Given the description of an element on the screen output the (x, y) to click on. 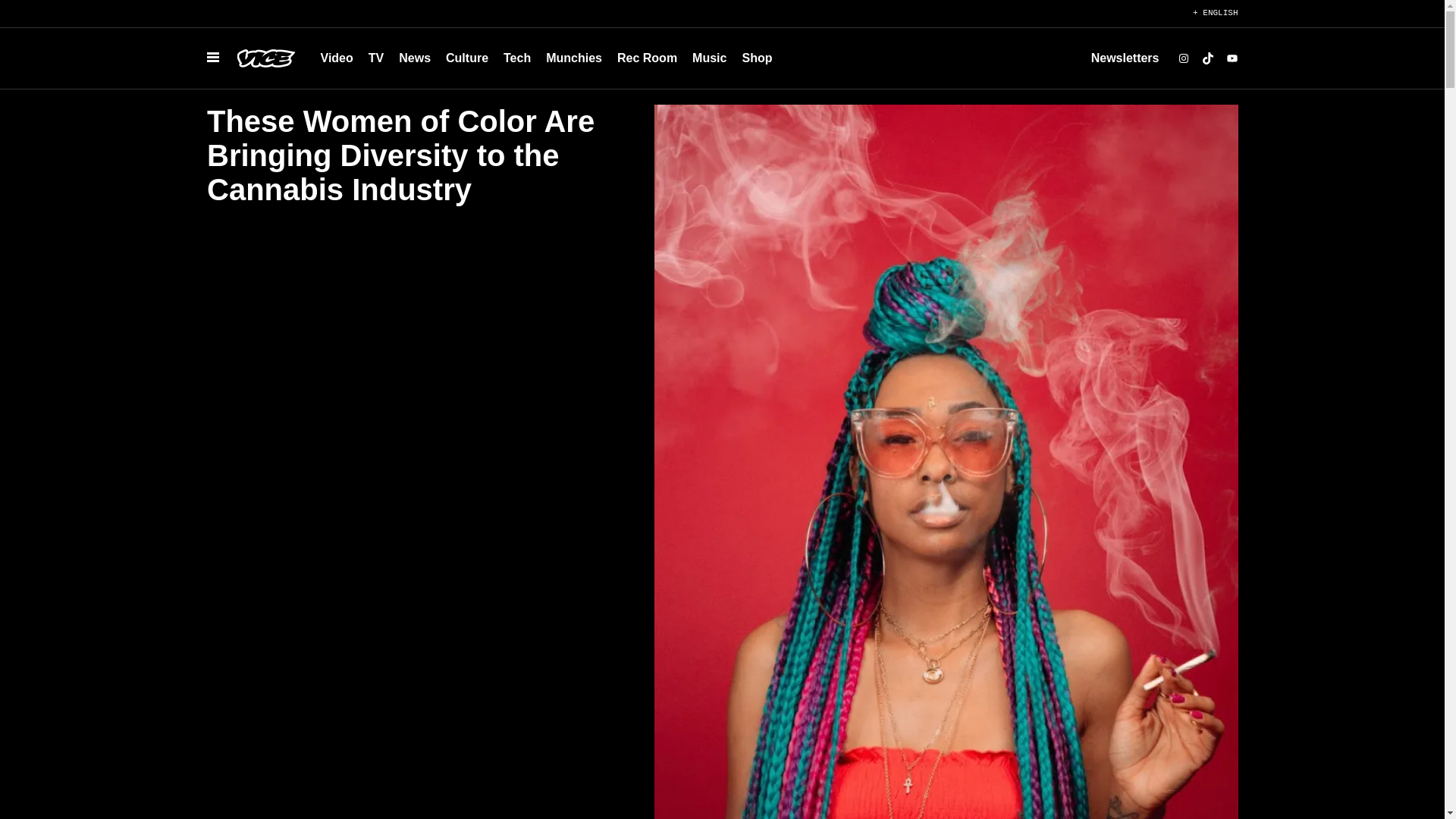
Rec Room (647, 58)
Instagram (1182, 58)
Music (708, 58)
Open Menu (211, 58)
Culture (467, 58)
TV (376, 58)
TikTok (1206, 58)
YouTube (1231, 58)
Tech (517, 58)
Video (336, 58)
